Given the description of an element on the screen output the (x, y) to click on. 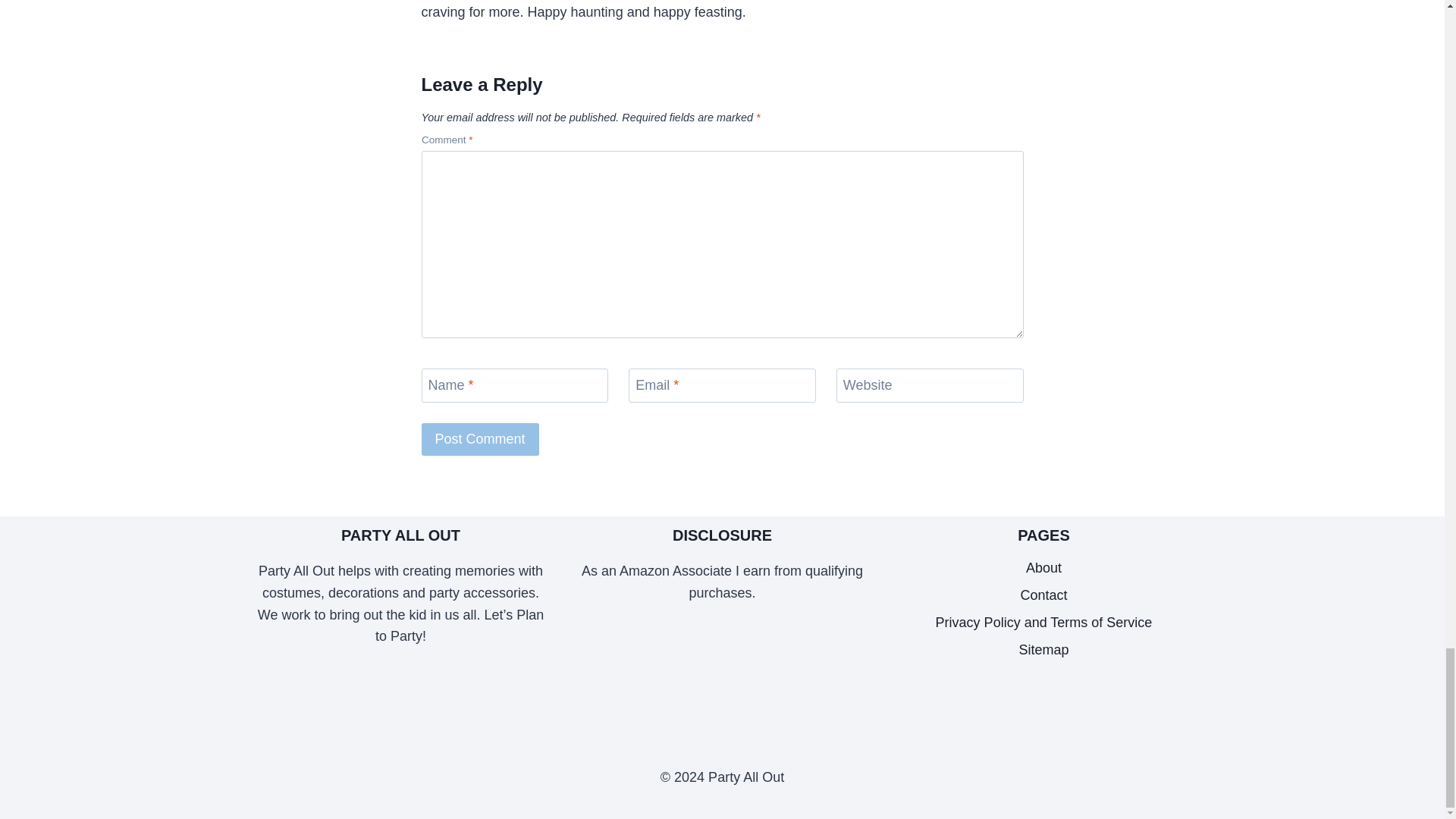
Post Comment (480, 439)
Contact (1044, 595)
About (1044, 567)
Post Comment (480, 439)
Sitemap (1044, 649)
Privacy Policy and Terms of Service (1044, 622)
